Given the description of an element on the screen output the (x, y) to click on. 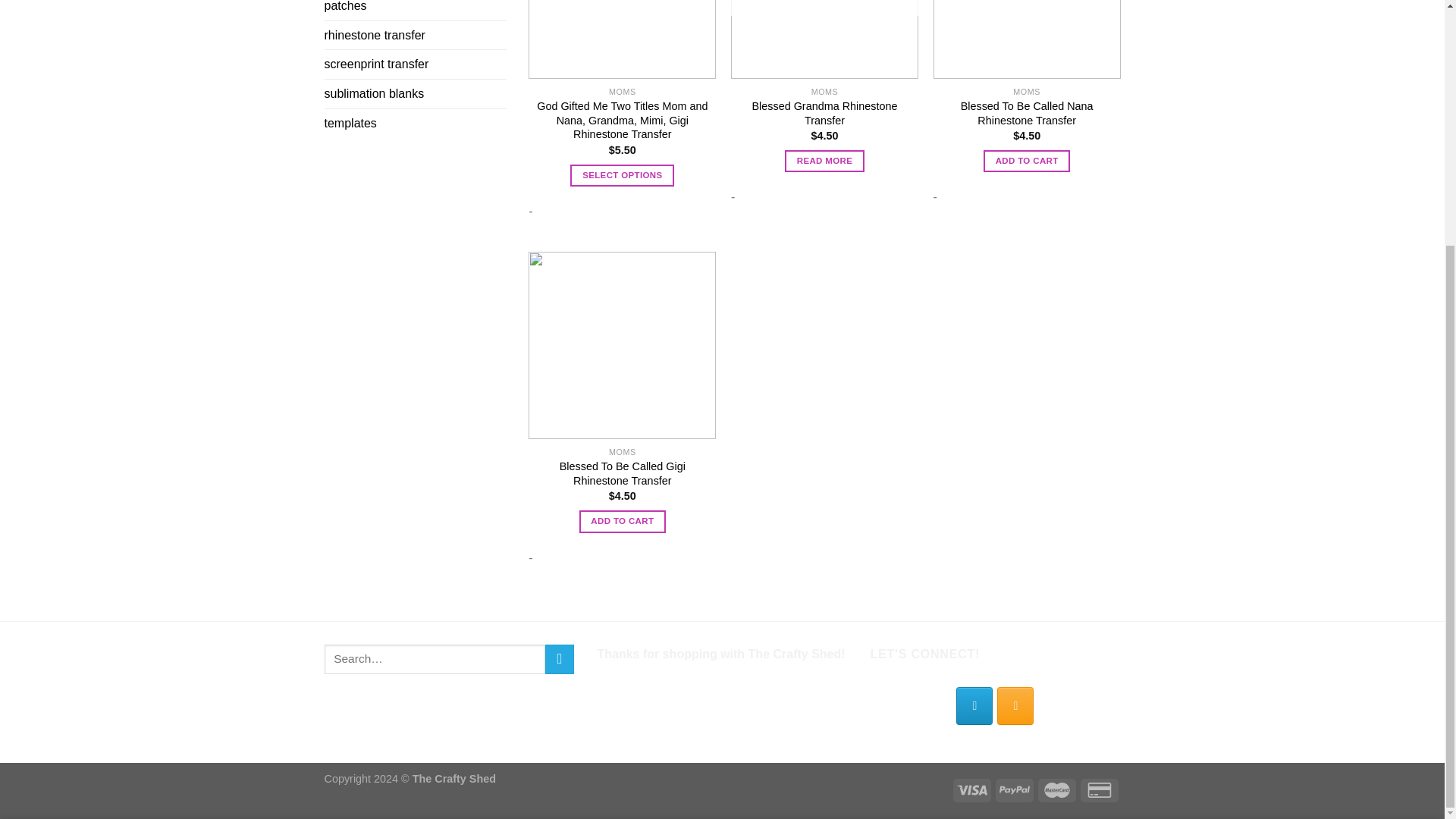
The Crafty Shed on Facebook (974, 705)
patches (415, 10)
The Crafty Shed on Instagram (1015, 705)
rhinestone transfer (415, 35)
